Given the description of an element on the screen output the (x, y) to click on. 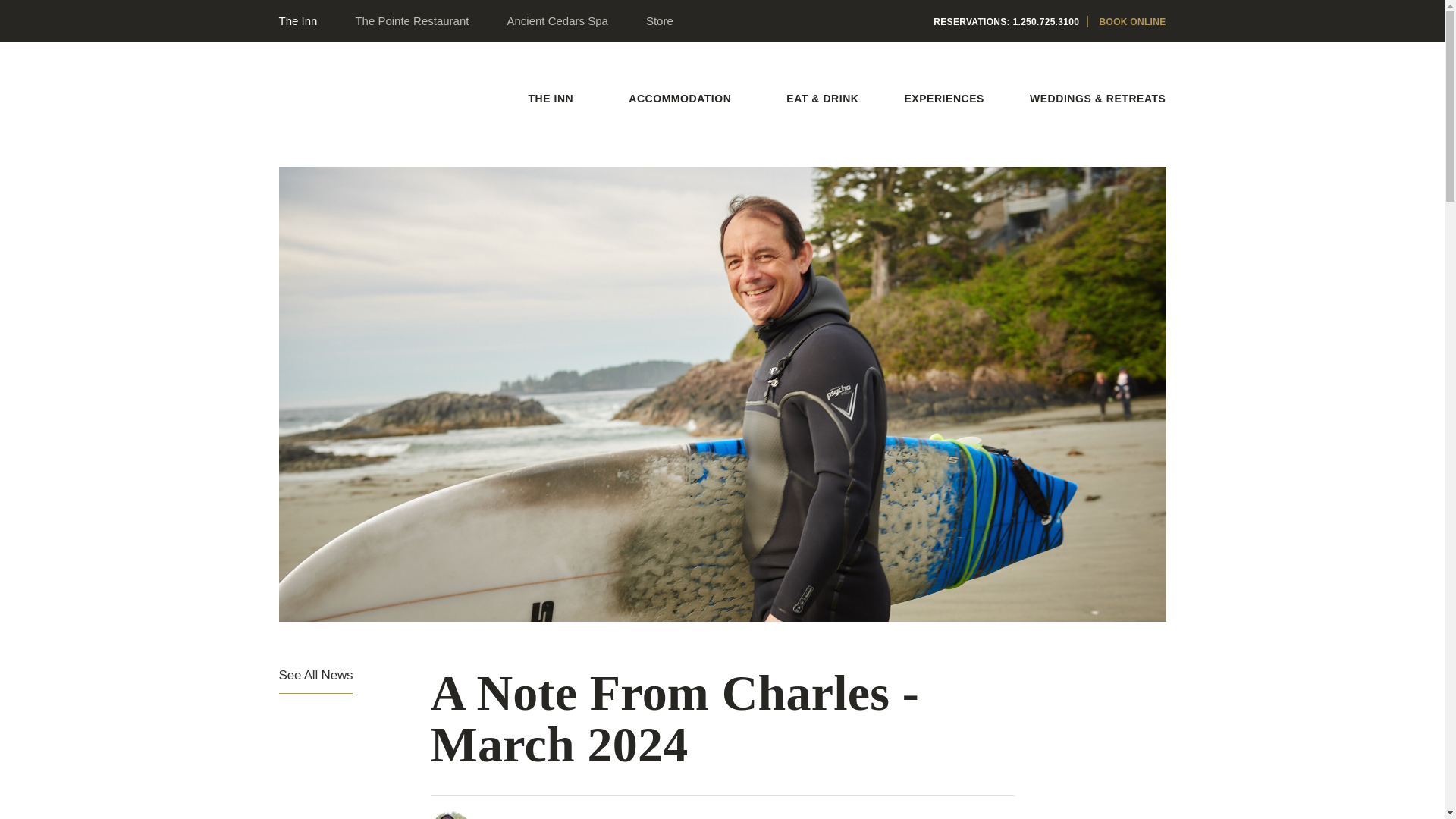
Ancient Cedars Spa (556, 20)
Wickaninnish Inn - Home (336, 116)
Skip to Navigation Links by Section (58, 4)
Book Online (1132, 21)
RESERVATIONS: 1.250.725.3100 (1005, 21)
The Inn (300, 20)
Store (659, 20)
Skip to Main Content (540, 95)
Skip to Main Content (34, 4)
THE INN (555, 98)
